Given the description of an element on the screen output the (x, y) to click on. 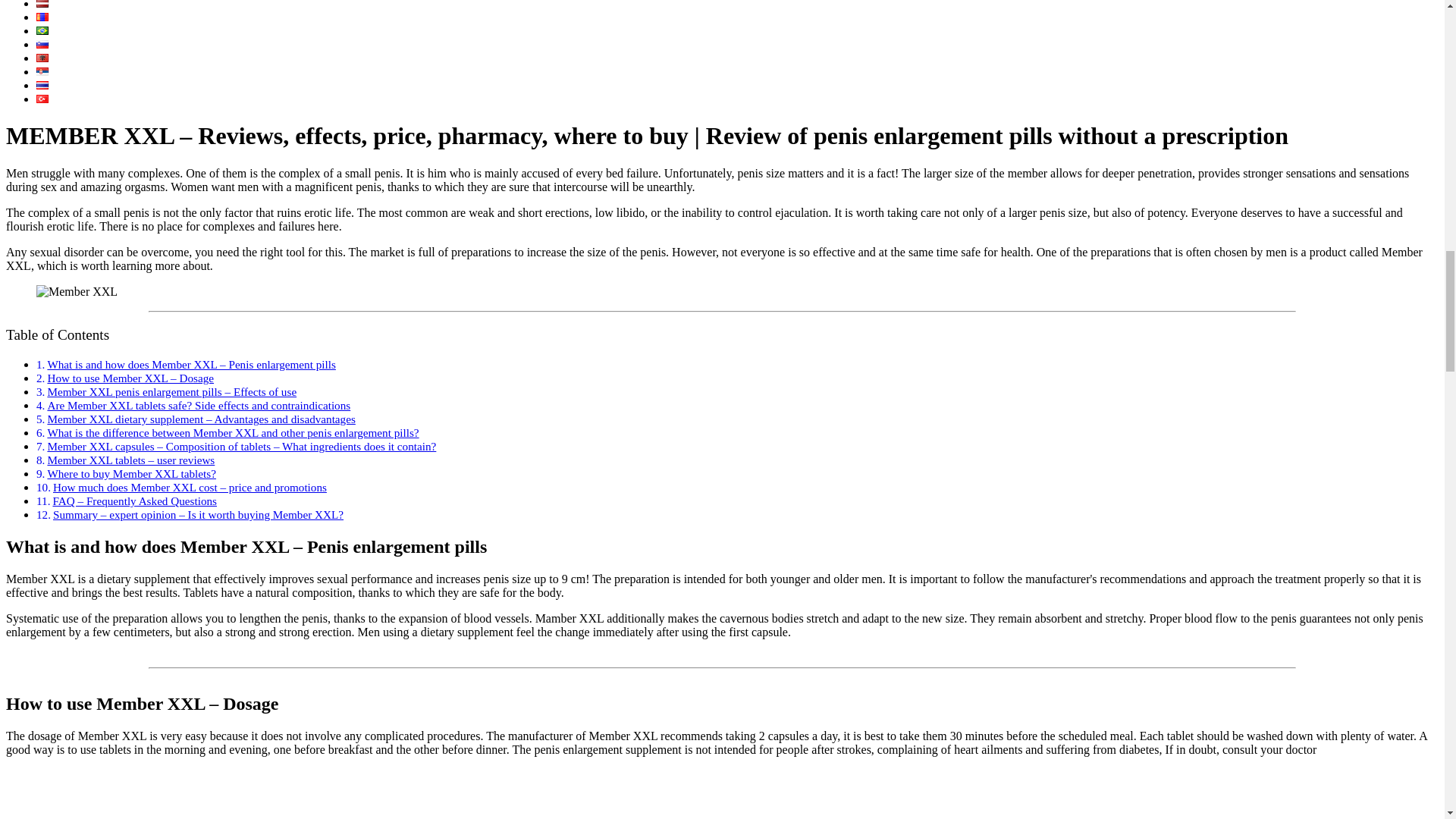
Where to buy Member XXL tablets? (130, 472)
